Given the description of an element on the screen output the (x, y) to click on. 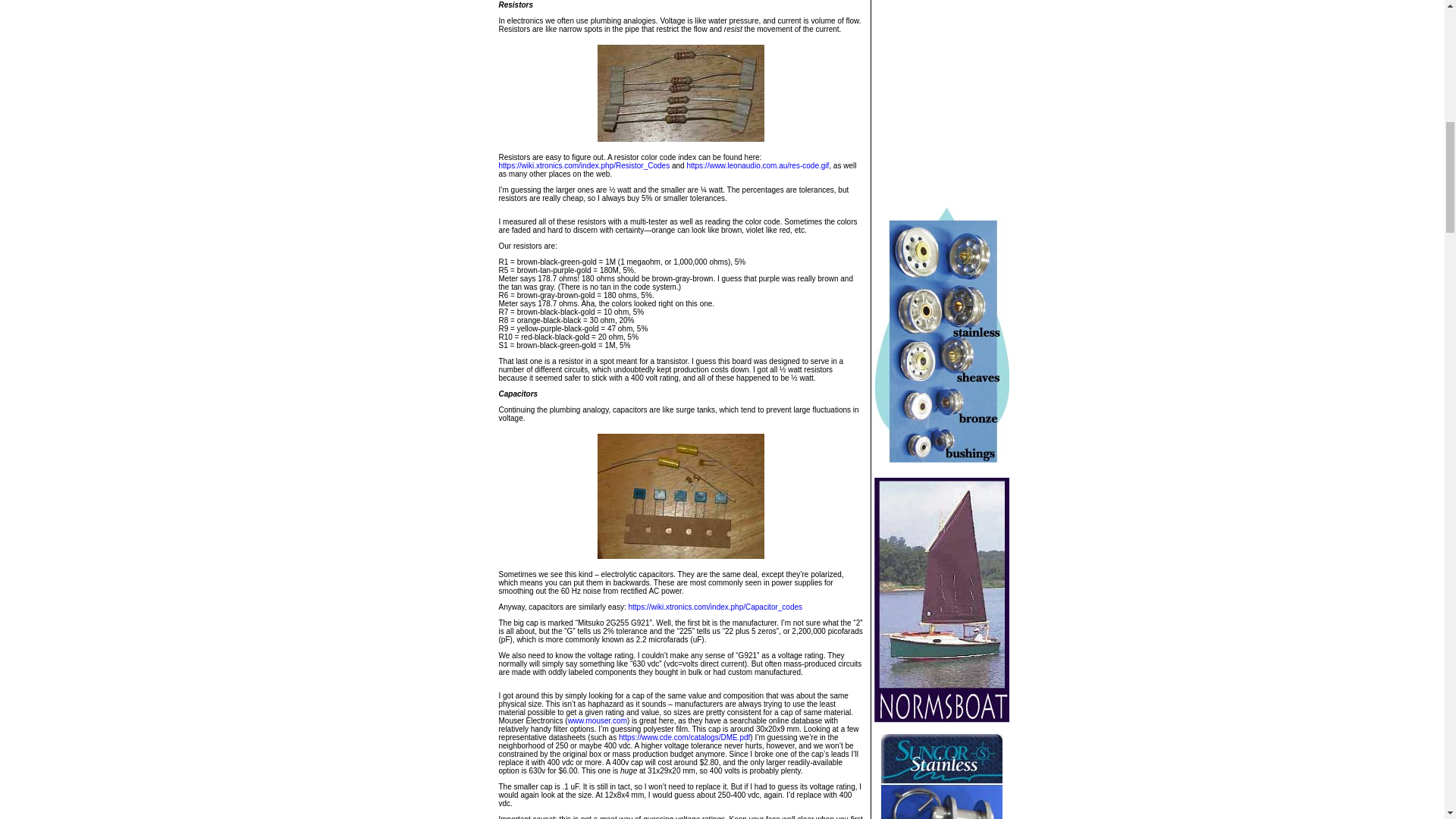
www.mouser.com (597, 720)
